Given the description of an element on the screen output the (x, y) to click on. 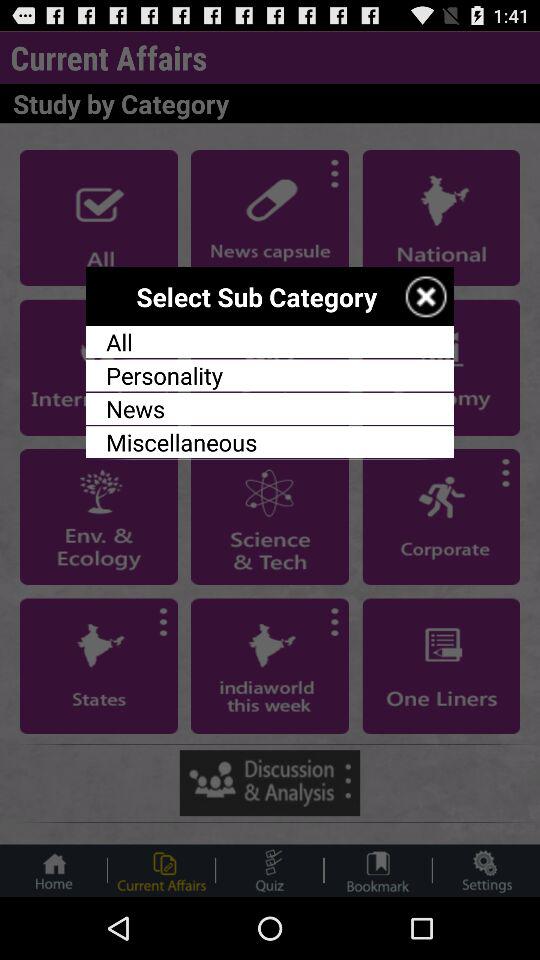
click the app below all item (269, 375)
